Given the description of an element on the screen output the (x, y) to click on. 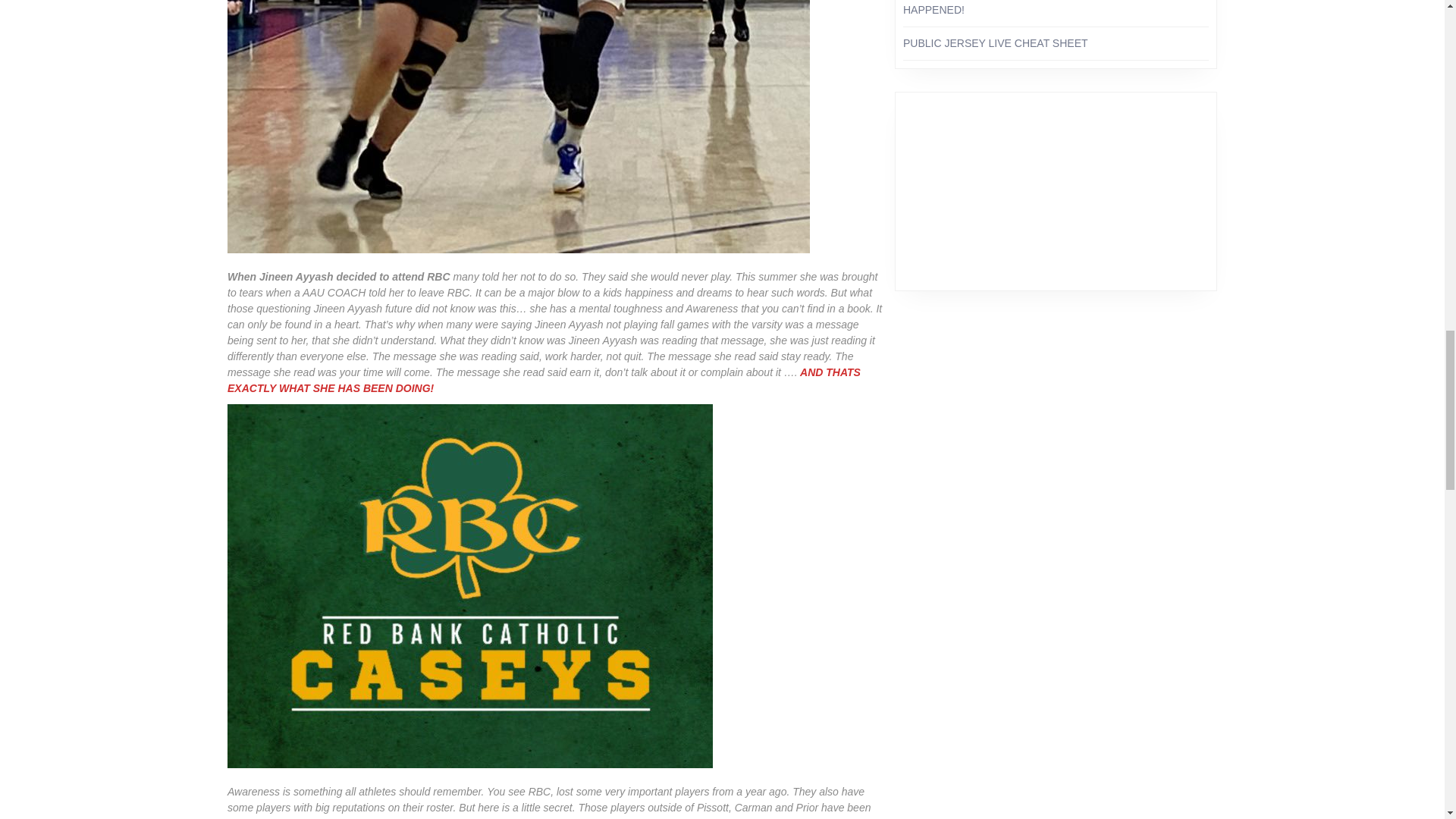
PUBLIC JERSEY LIVE CHEAT SHEET (994, 42)
